Given the description of an element on the screen output the (x, y) to click on. 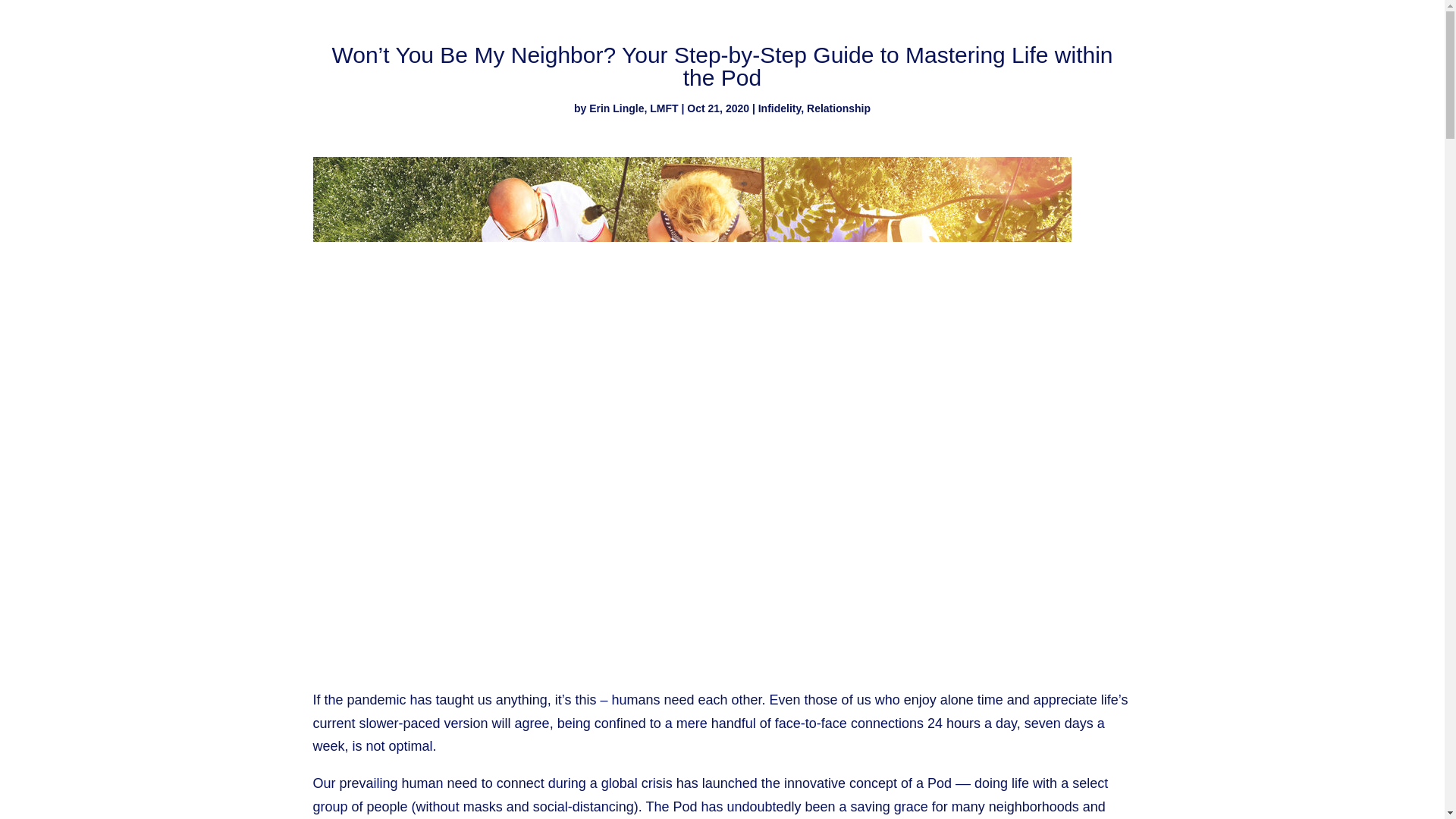
Posts by Erin Lingle, LMFT (633, 108)
